Given the description of an element on the screen output the (x, y) to click on. 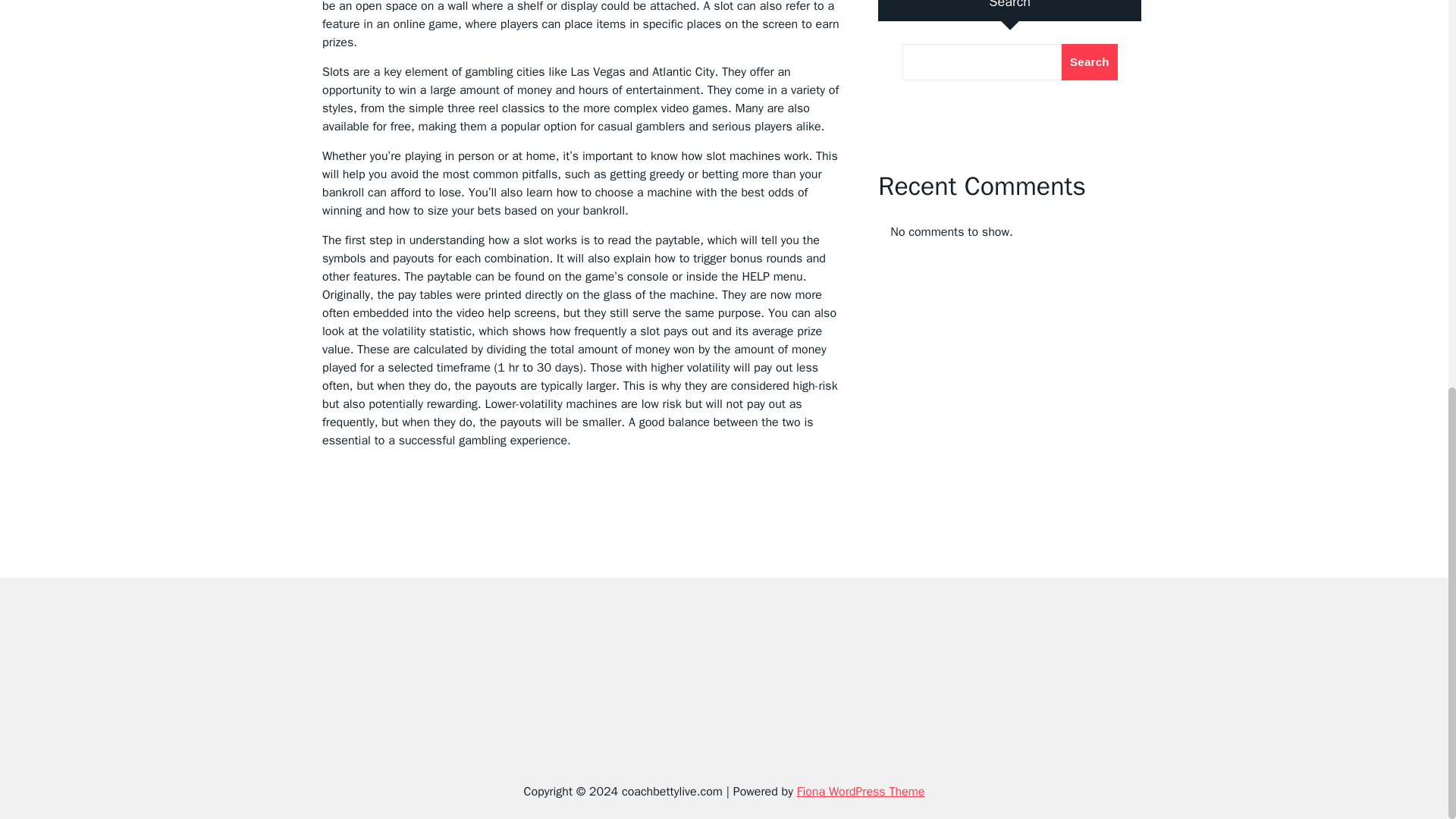
Fiona WordPress Theme (860, 791)
Search (1089, 62)
